Given the description of an element on the screen output the (x, y) to click on. 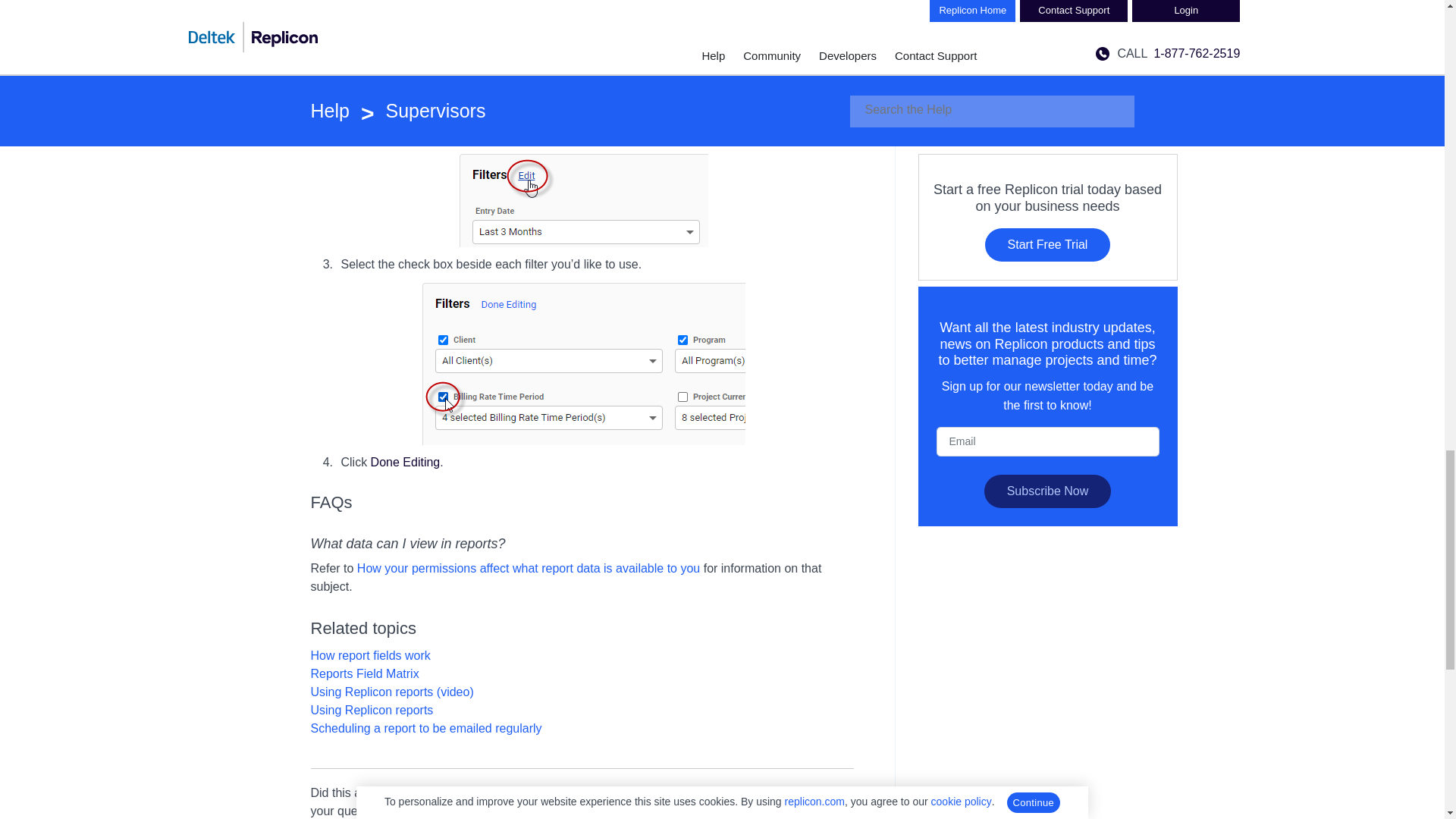
Reports Field Matrix (555, 3)
Reports Field Matrix (365, 673)
Using Replicon reports (372, 709)
no (510, 791)
How report fields work (370, 655)
yes (466, 791)
report template (399, 18)
